Given the description of an element on the screen output the (x, y) to click on. 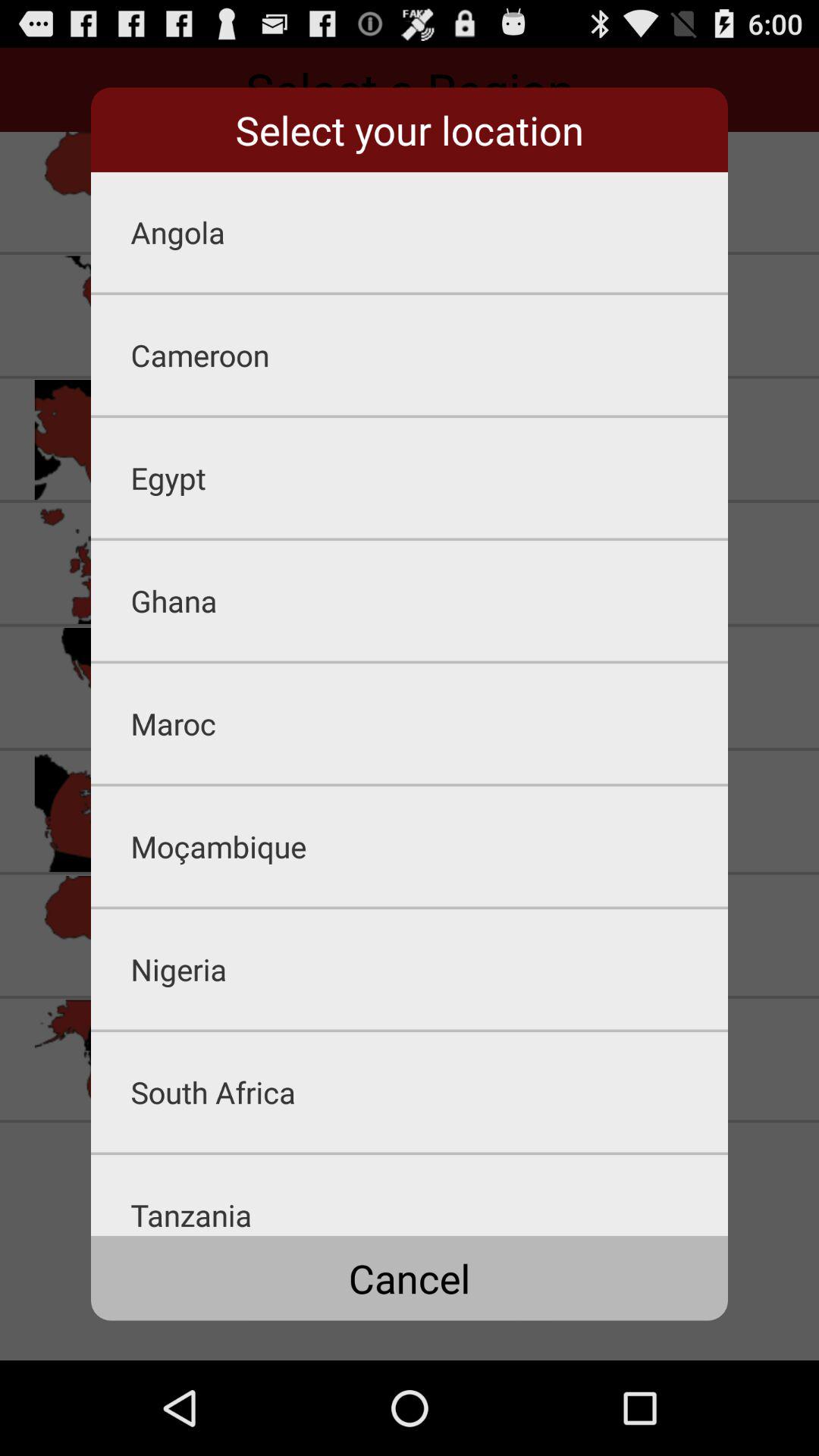
swipe until egypt icon (429, 478)
